Given the description of an element on the screen output the (x, y) to click on. 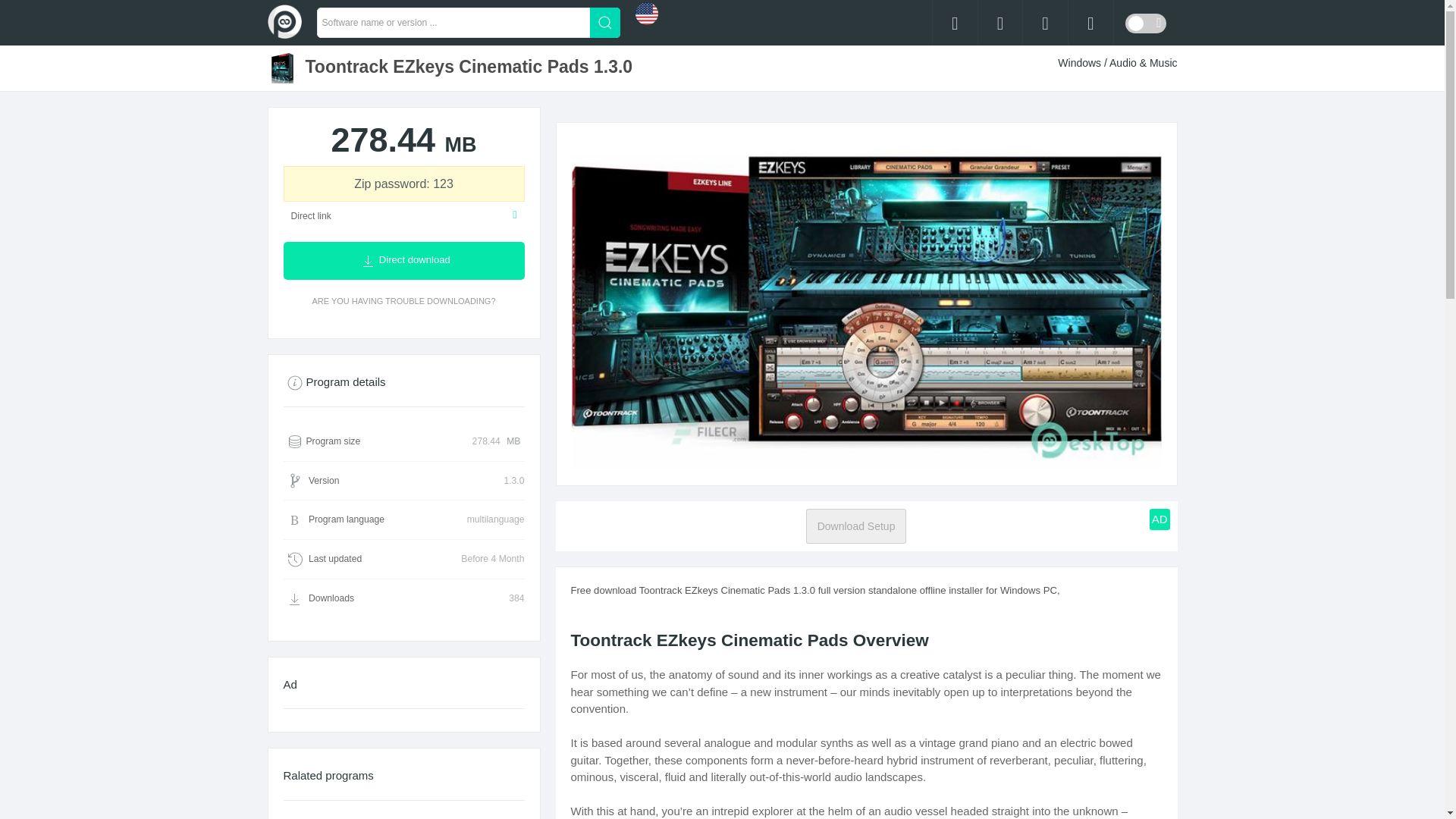
Roland Cloud SRX KEYBOARDS (403, 809)
Download Setup (856, 525)
Download Setup (856, 525)
Windows (1080, 62)
ARE YOU HAVING TROUBLE DOWNLOADING? (403, 300)
Direct download (403, 260)
